Given the description of an element on the screen output the (x, y) to click on. 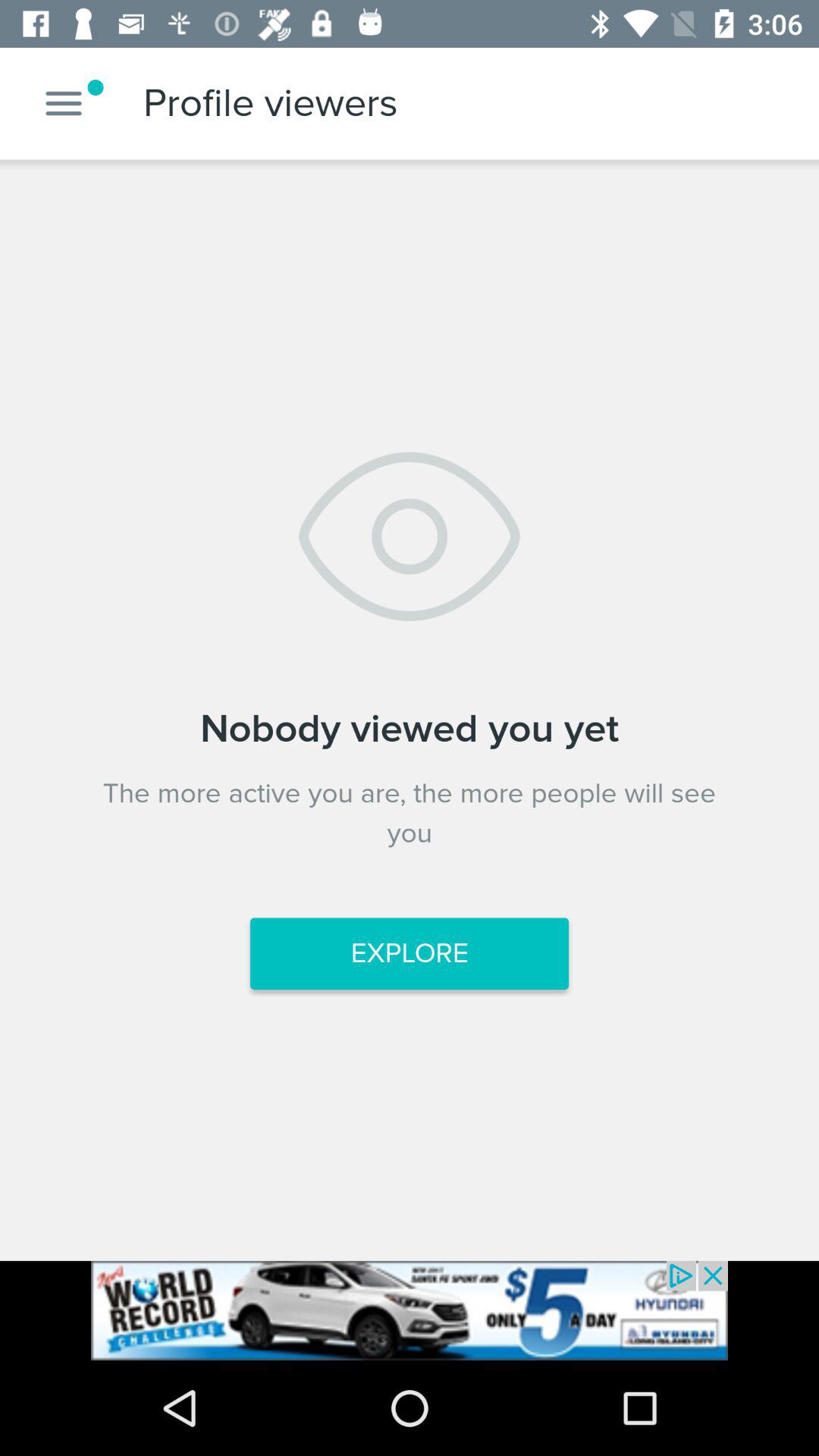
advertisement page (409, 1310)
